Given the description of an element on the screen output the (x, y) to click on. 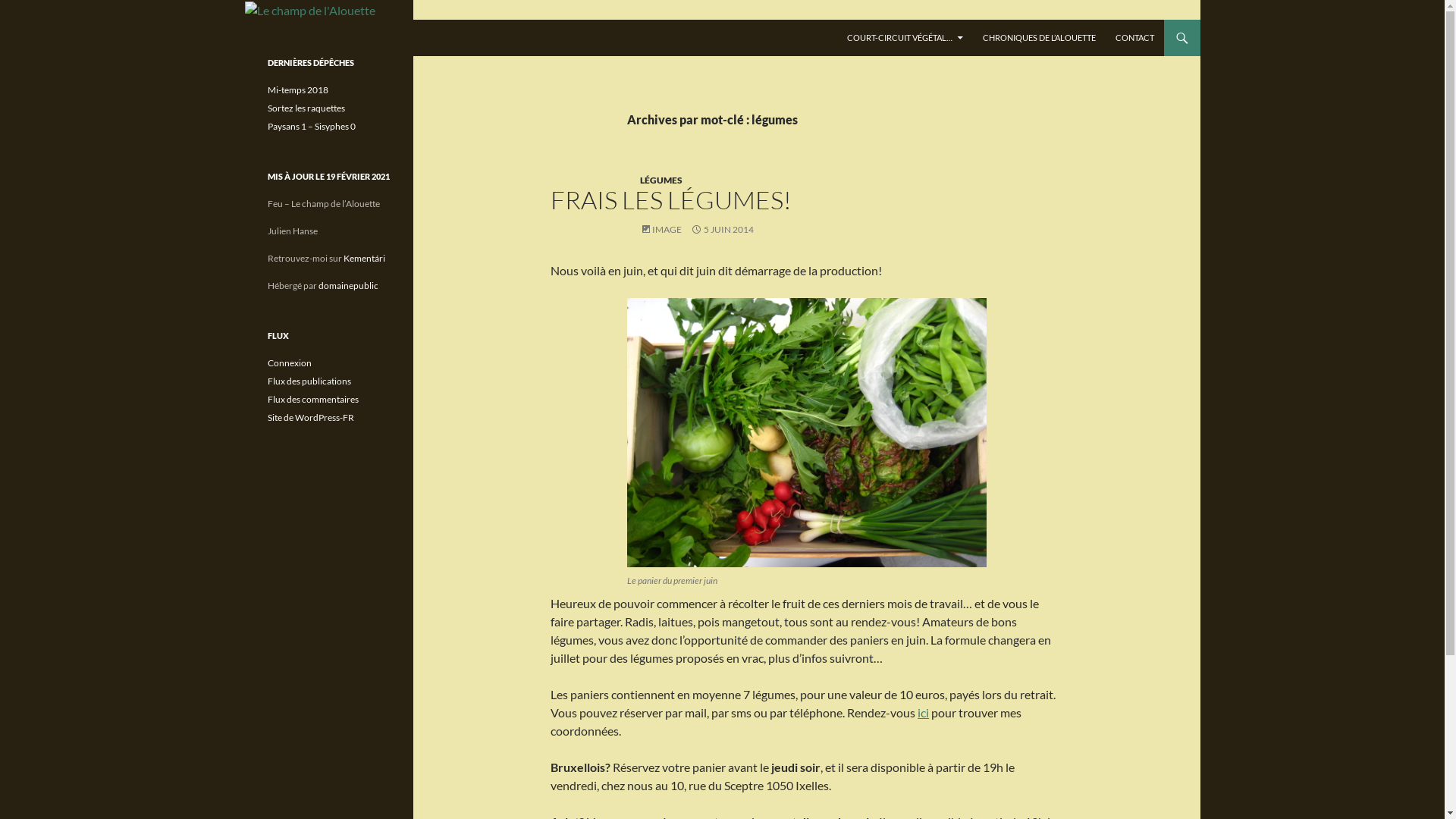
Mi-temps 2018 Element type: text (296, 89)
Sortez les raquettes Element type: text (305, 107)
ici Element type: text (922, 712)
IMAGE Element type: text (660, 229)
5 JUIN 2014 Element type: text (721, 229)
Flux des commentaires Element type: text (311, 398)
Site de WordPress-FR Element type: text (309, 417)
Le champ de l'Alouette Element type: text (334, 37)
CONTACT Element type: text (1133, 37)
ALLER AU CONTENU Element type: text (846, 19)
Connexion Element type: text (288, 362)
domainepublic Element type: text (348, 285)
Flux des publications Element type: text (308, 380)
Recherche Element type: text (248, 19)
